Given the description of an element on the screen output the (x, y) to click on. 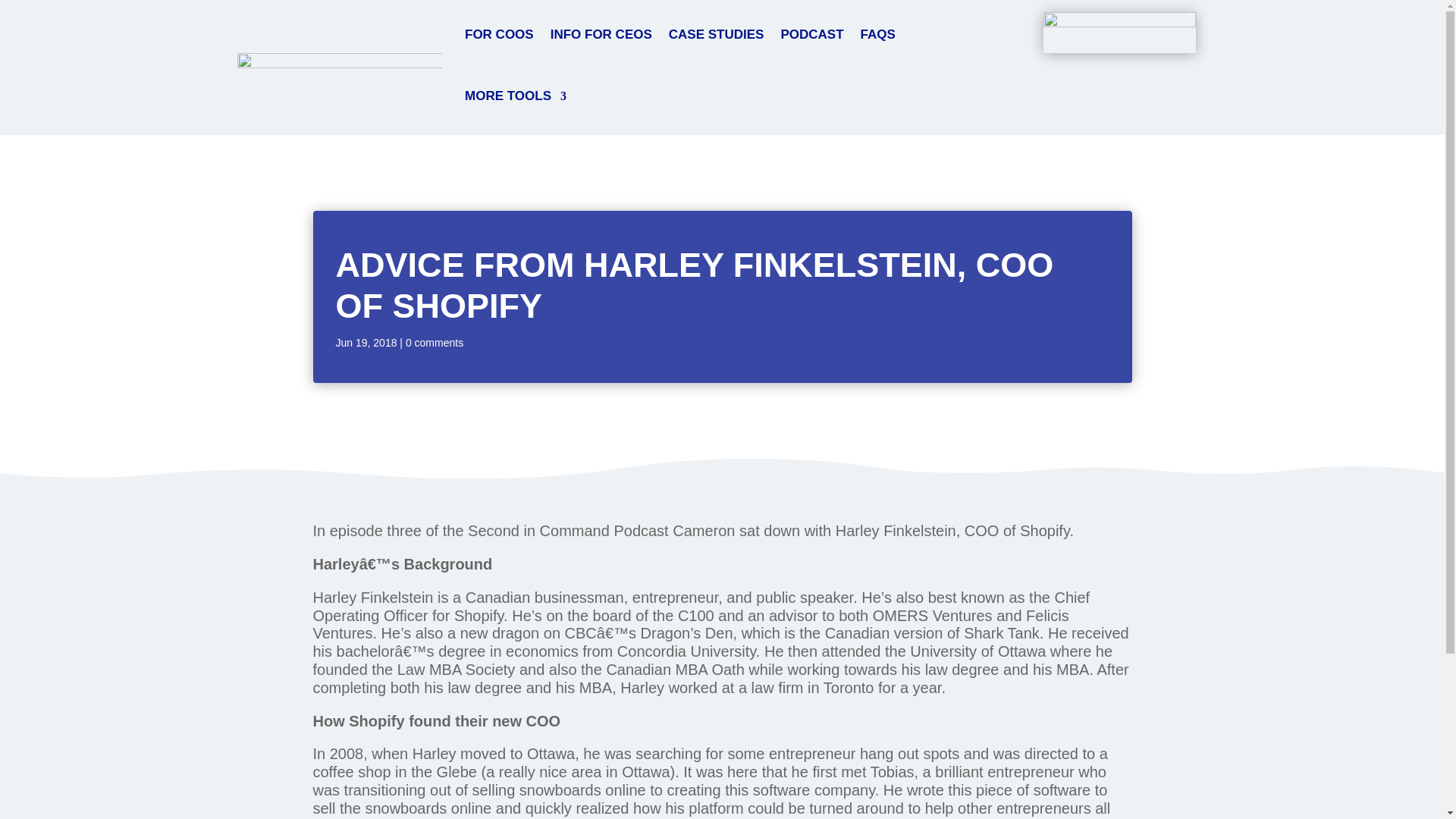
cooa-book-button-fin-01 (1119, 32)
FAQS (877, 35)
PODCAST (811, 35)
0 comments (434, 342)
MORE TOOLS (515, 96)
FOR COOS (499, 35)
CASE STUDIES (716, 35)
INFO FOR CEOS (601, 35)
